Given the description of an element on the screen output the (x, y) to click on. 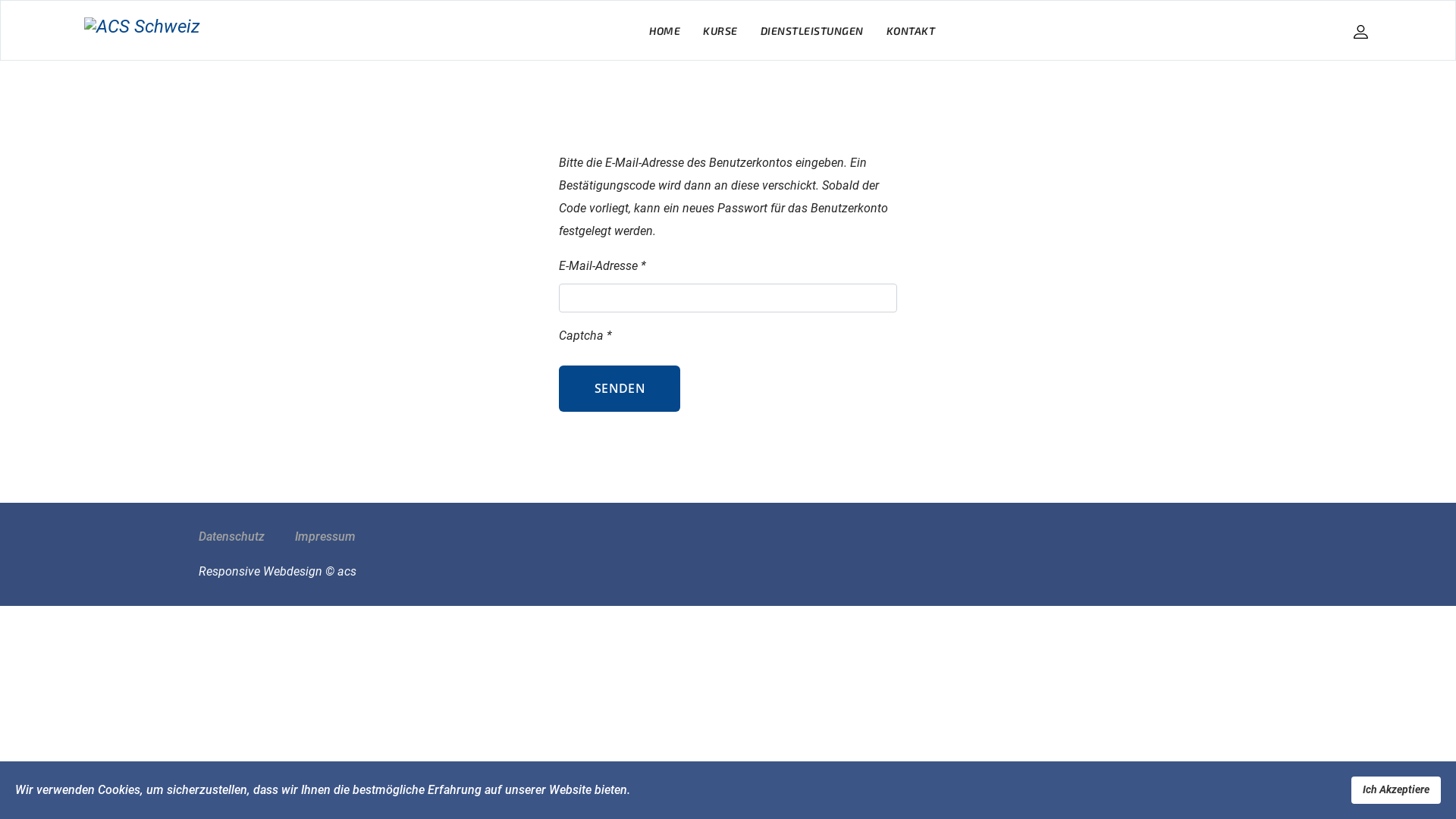
KURSE Element type: text (720, 30)
DIENSTLEISTUNGEN Element type: text (812, 30)
KONTAKT Element type: text (911, 30)
SENDEN Element type: text (619, 388)
Impressum Element type: text (324, 536)
HOME Element type: text (664, 30)
Ich Akzeptiere Element type: text (1395, 789)
Datenschutz Element type: text (231, 536)
